Given the description of an element on the screen output the (x, y) to click on. 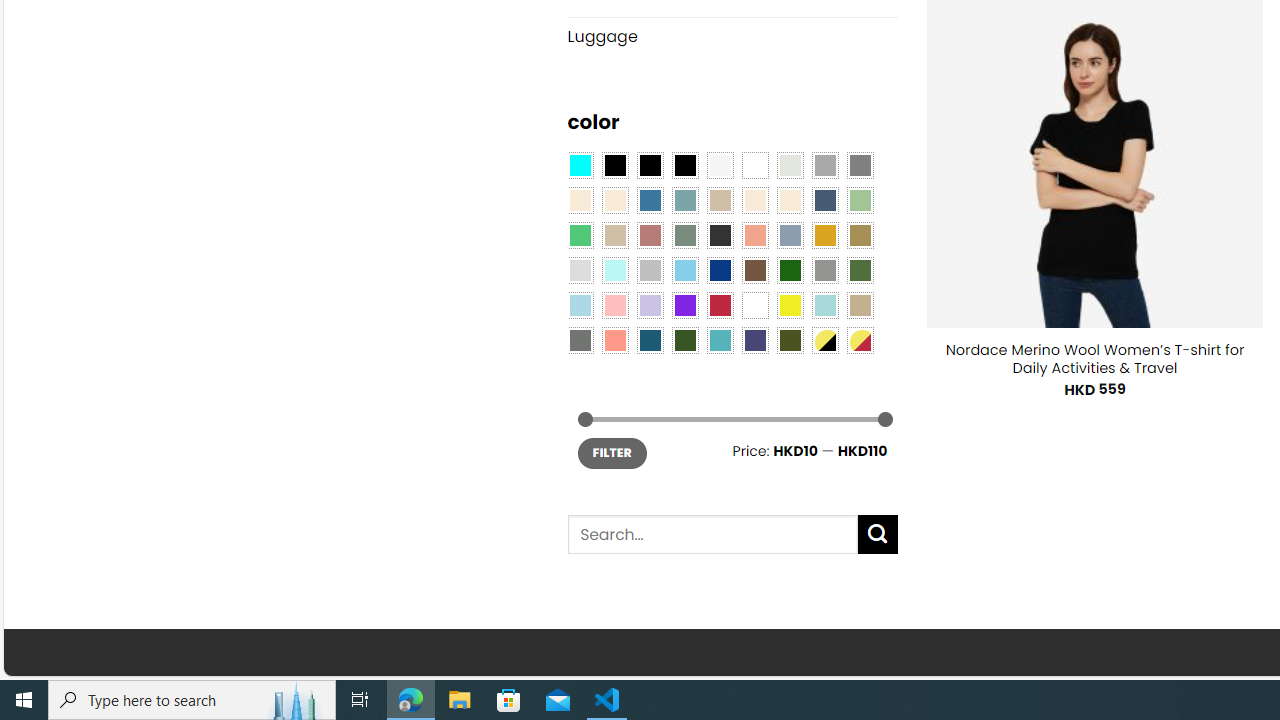
Clear (755, 164)
Black-Brown (684, 164)
Dark Gray (824, 164)
Sky Blue (684, 269)
Peach Pink (614, 339)
Charcoal (719, 234)
Beige-Brown (614, 200)
Forest (684, 339)
Light Green (859, 200)
Yellow (789, 305)
Blue (650, 200)
Light Purple (650, 305)
Yellow-Black (824, 339)
Purple (684, 305)
Dusty Blue (789, 234)
